Given the description of an element on the screen output the (x, y) to click on. 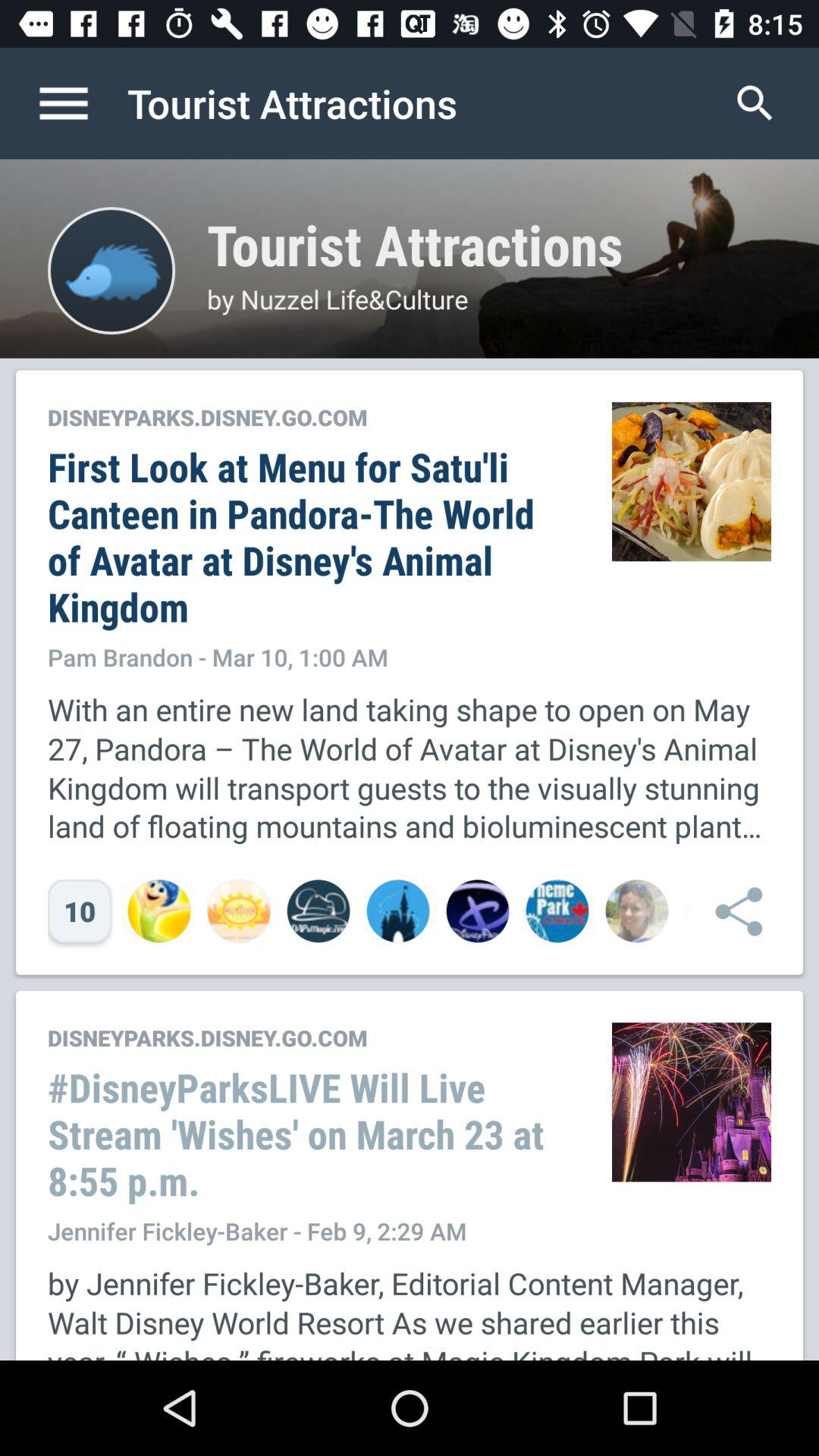
turn off icon next to tourist attractions item (79, 103)
